Given the description of an element on the screen output the (x, y) to click on. 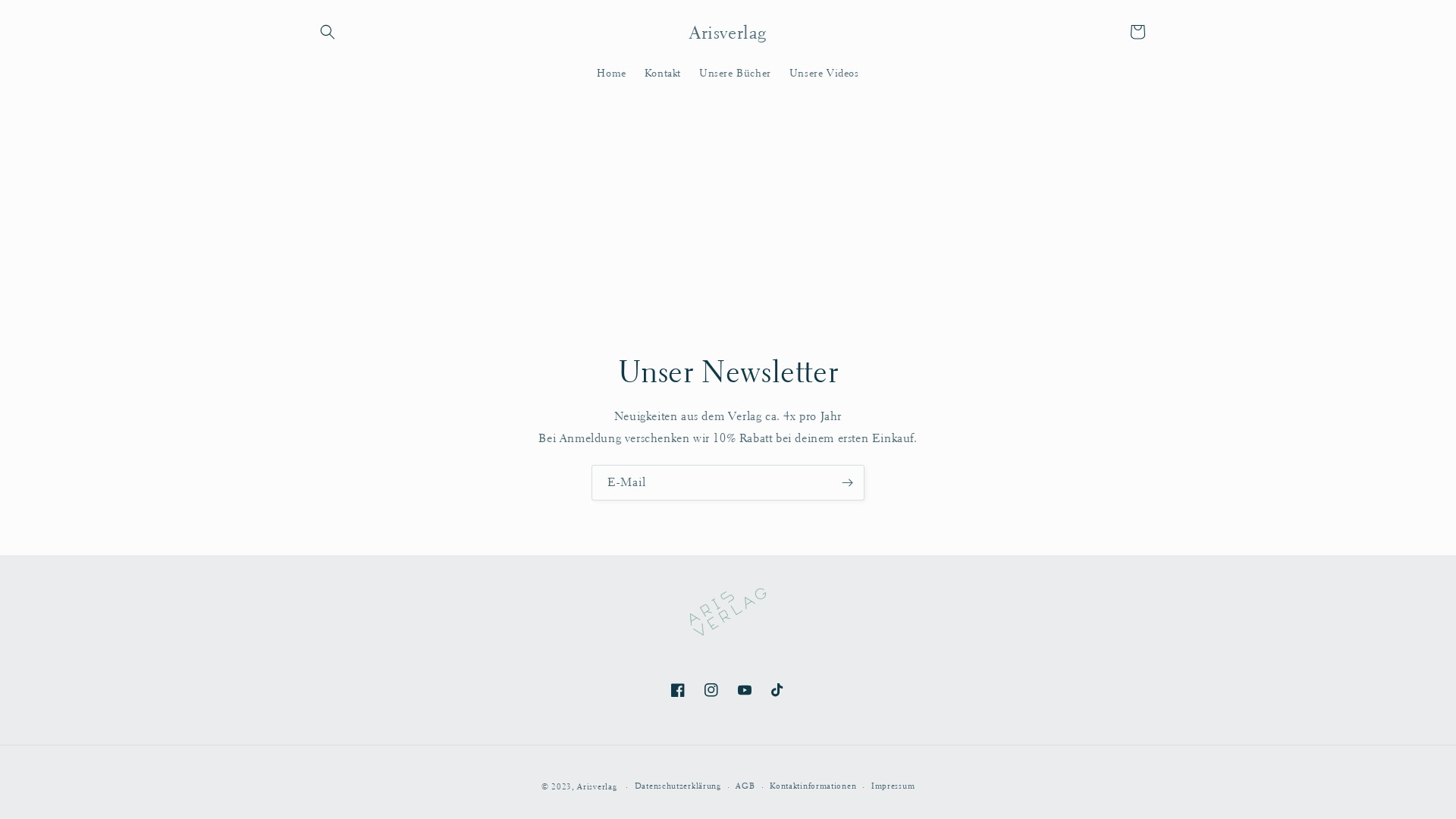
Kontakt Element type: text (662, 71)
Arisverlag Element type: text (728, 31)
Arisverlag Element type: text (596, 786)
Home Element type: text (610, 71)
Kontaktinformationen Element type: text (812, 786)
Warenkorb Element type: text (1137, 31)
Unsere Videos Element type: text (824, 71)
Instagram Element type: text (711, 689)
AGB Element type: text (744, 786)
YouTube Element type: text (744, 689)
Impressum Element type: text (892, 786)
Facebook Element type: text (677, 689)
TikTok Element type: text (777, 689)
